Given the description of an element on the screen output the (x, y) to click on. 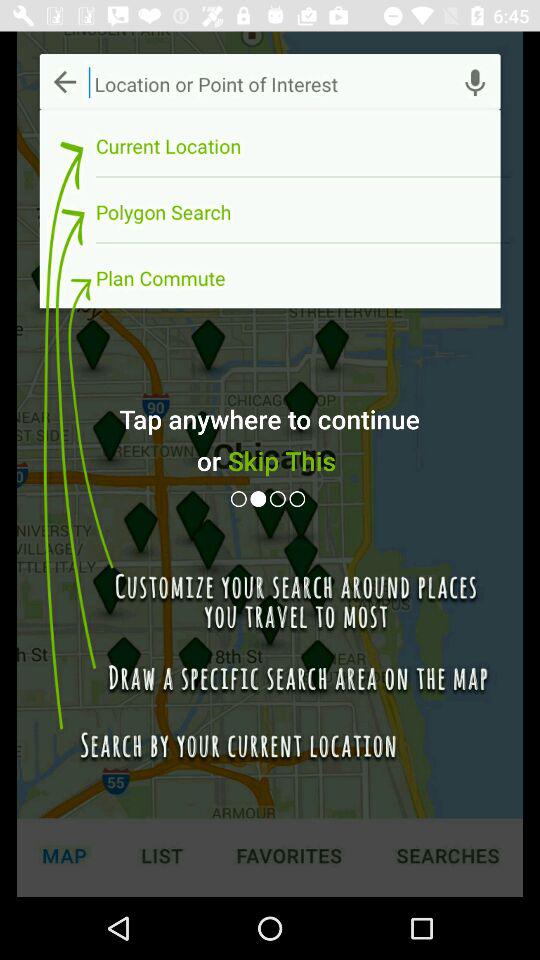
go to next (299, 498)
